Given the description of an element on the screen output the (x, y) to click on. 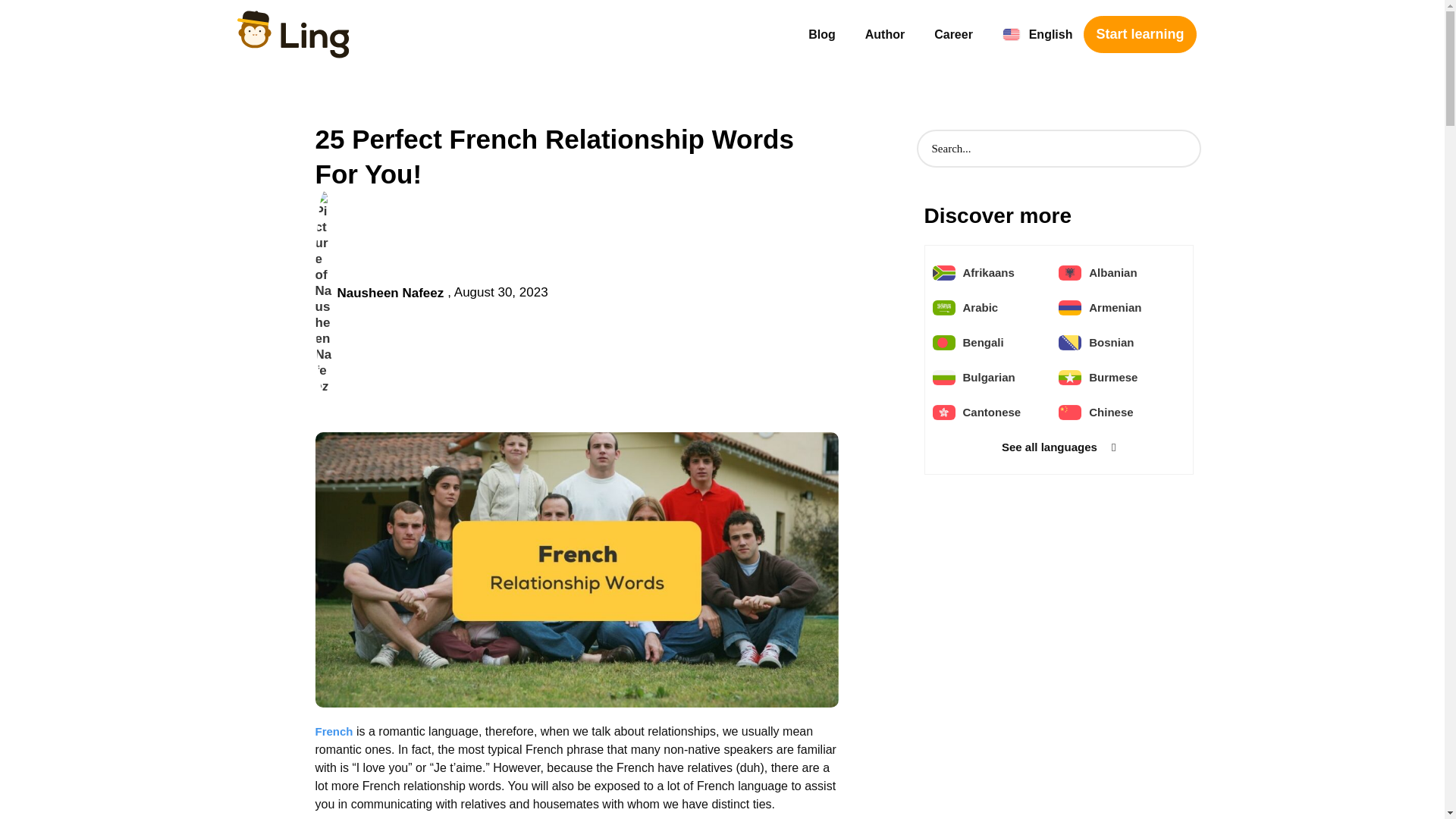
Cantonese (992, 412)
Albanian (1113, 272)
Burmese (1113, 376)
Author (884, 34)
Bengali (983, 342)
Bulgarian (988, 376)
Afrikaans (988, 272)
Armenian (1115, 307)
French (334, 730)
Chinese (1110, 412)
